Given the description of an element on the screen output the (x, y) to click on. 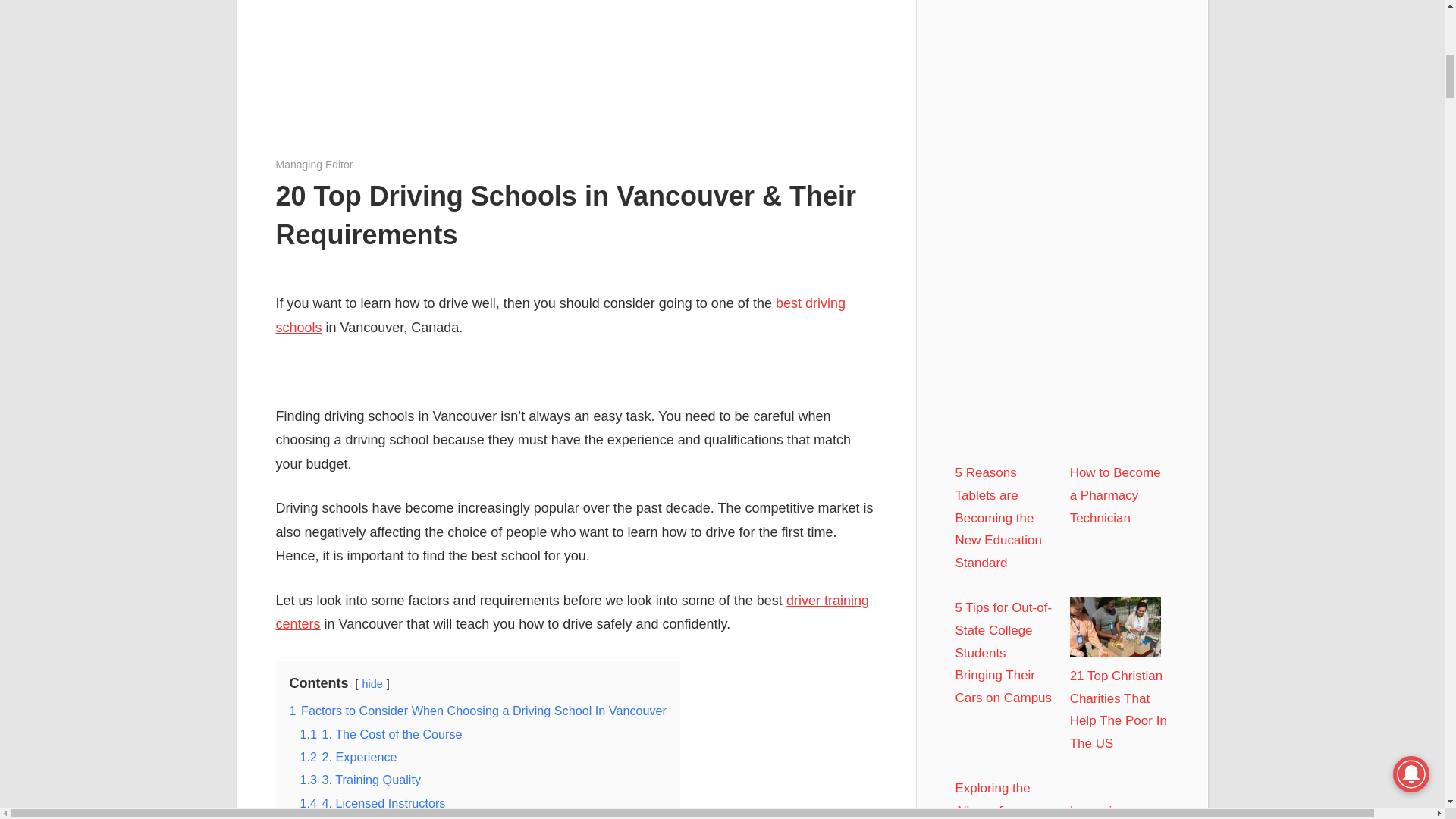
1:23 am (311, 163)
driver training centers (572, 612)
best driving schools (560, 314)
Advertisement (576, 74)
Managing Editor (314, 163)
August 7, 2022 (311, 163)
View all posts by Managing Editor (314, 163)
